Given the description of an element on the screen output the (x, y) to click on. 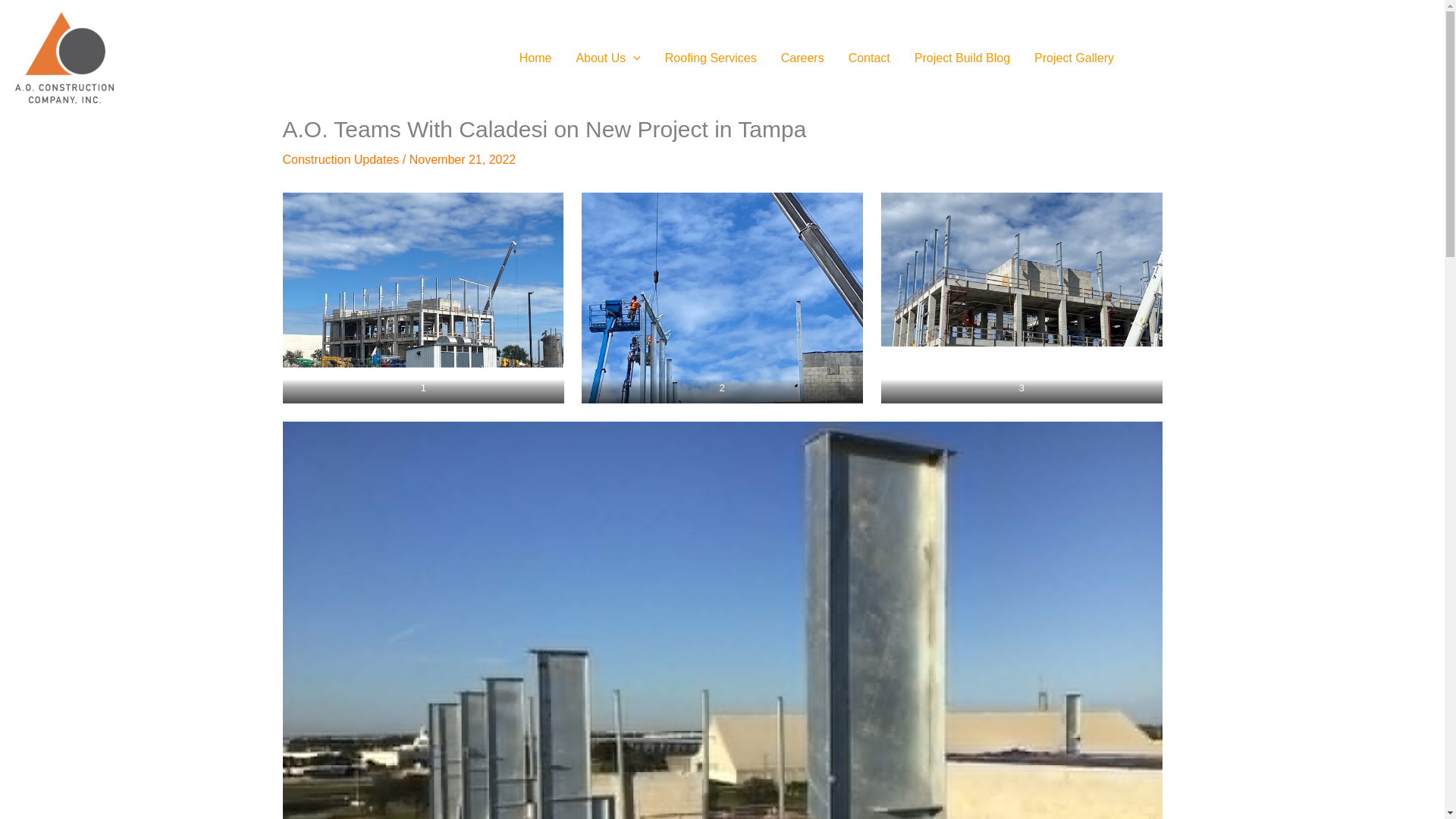
Roofing Services (710, 58)
Project Build Blog (962, 58)
Construction Updates (340, 159)
Project Gallery (1073, 58)
Home (535, 58)
Contact (868, 58)
Careers (801, 58)
About Us (607, 58)
